Given the description of an element on the screen output the (x, y) to click on. 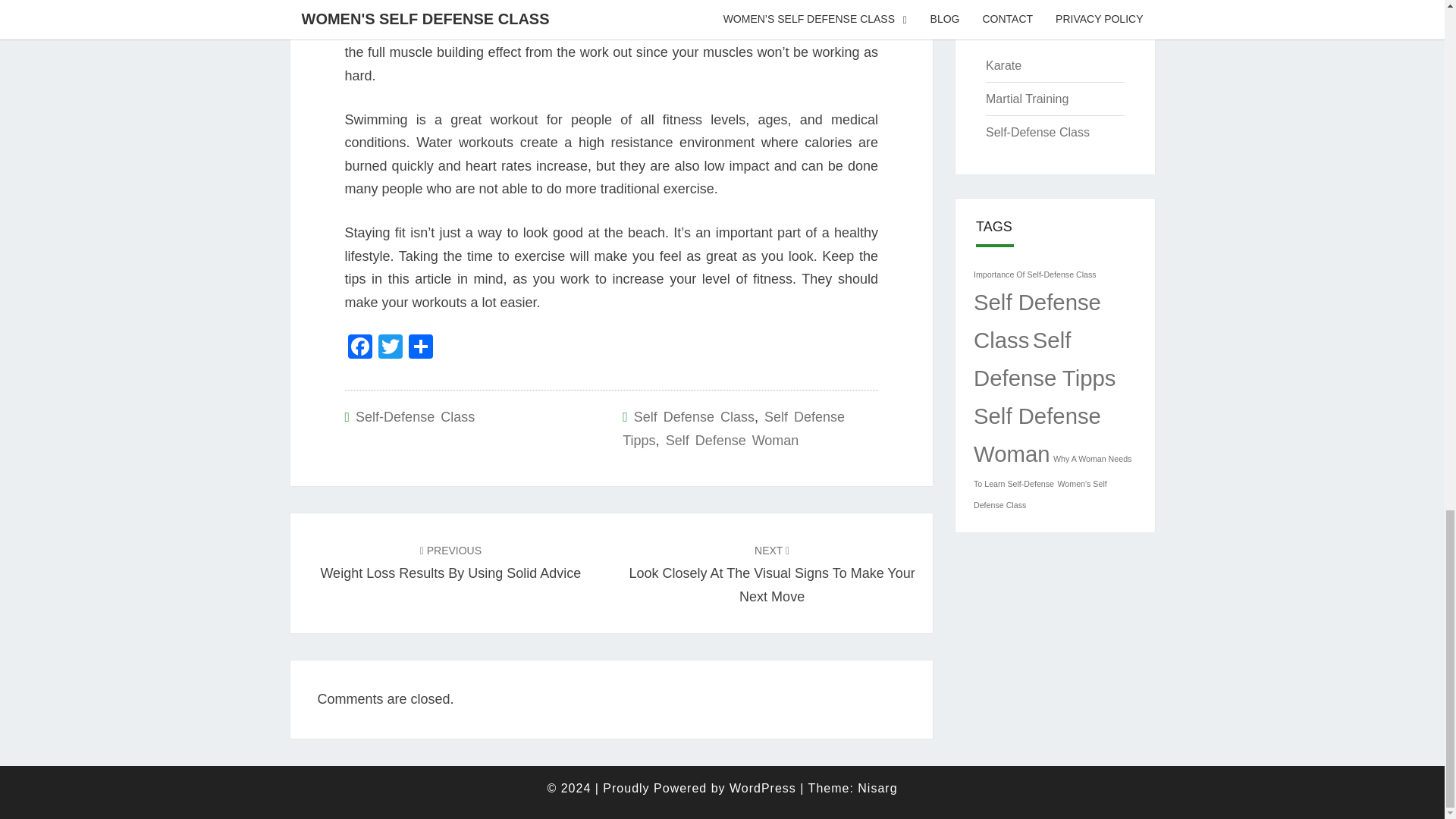
Self-Defense Class (414, 417)
Self Defense Woman (732, 440)
Importance Of Self-Defense Class (1035, 274)
Twitter (389, 348)
Self Defense Class (693, 417)
Facebook (358, 348)
Self Defense Class (1037, 320)
Twitter (450, 561)
Self-Defense Class (389, 348)
